Given the description of an element on the screen output the (x, y) to click on. 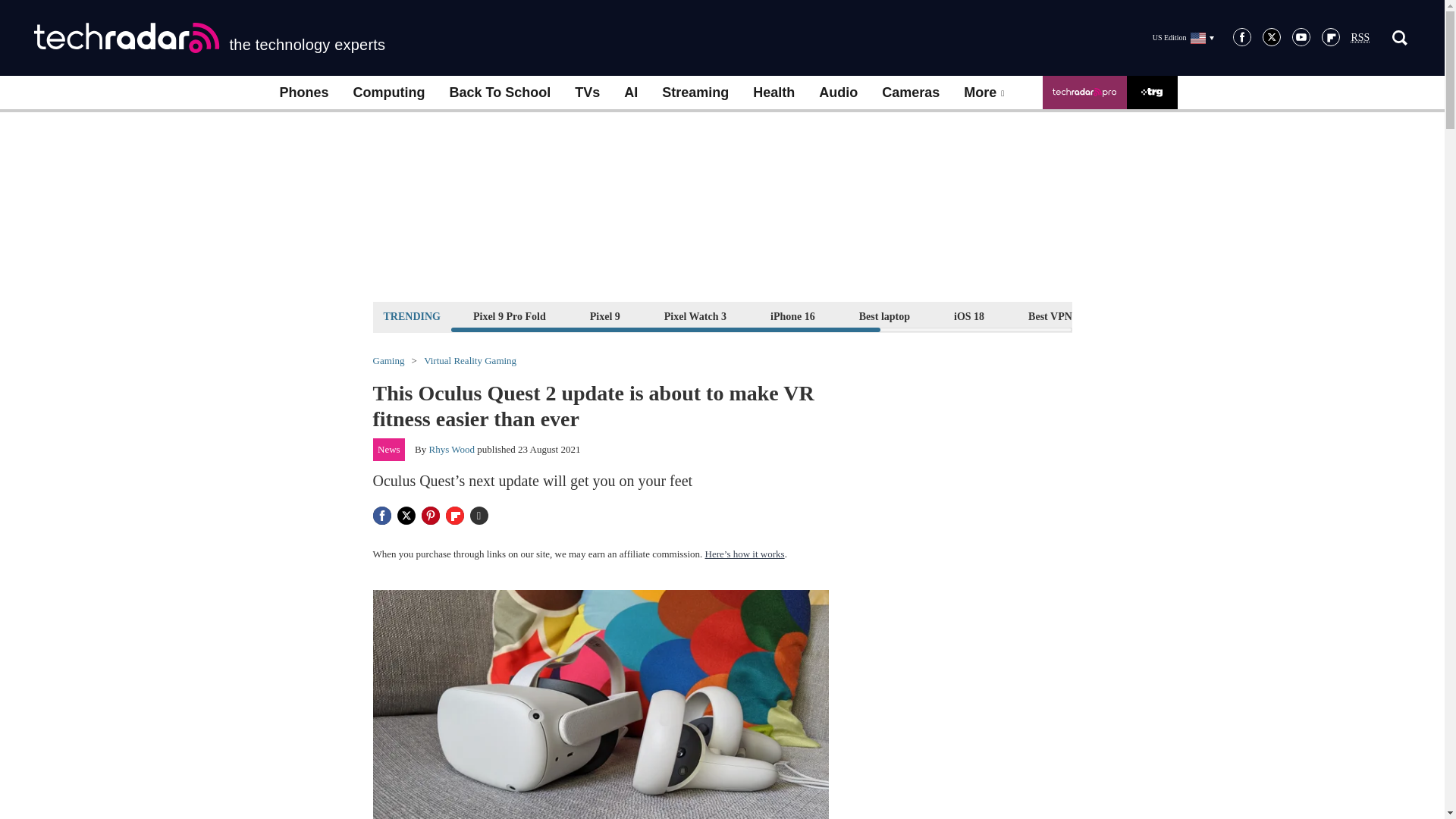
Streaming (695, 92)
TVs (586, 92)
Computing (389, 92)
Health (773, 92)
Cameras (910, 92)
Phones (303, 92)
the technology experts (209, 38)
Audio (837, 92)
Back To School (499, 92)
AI (630, 92)
